Given the description of an element on the screen output the (x, y) to click on. 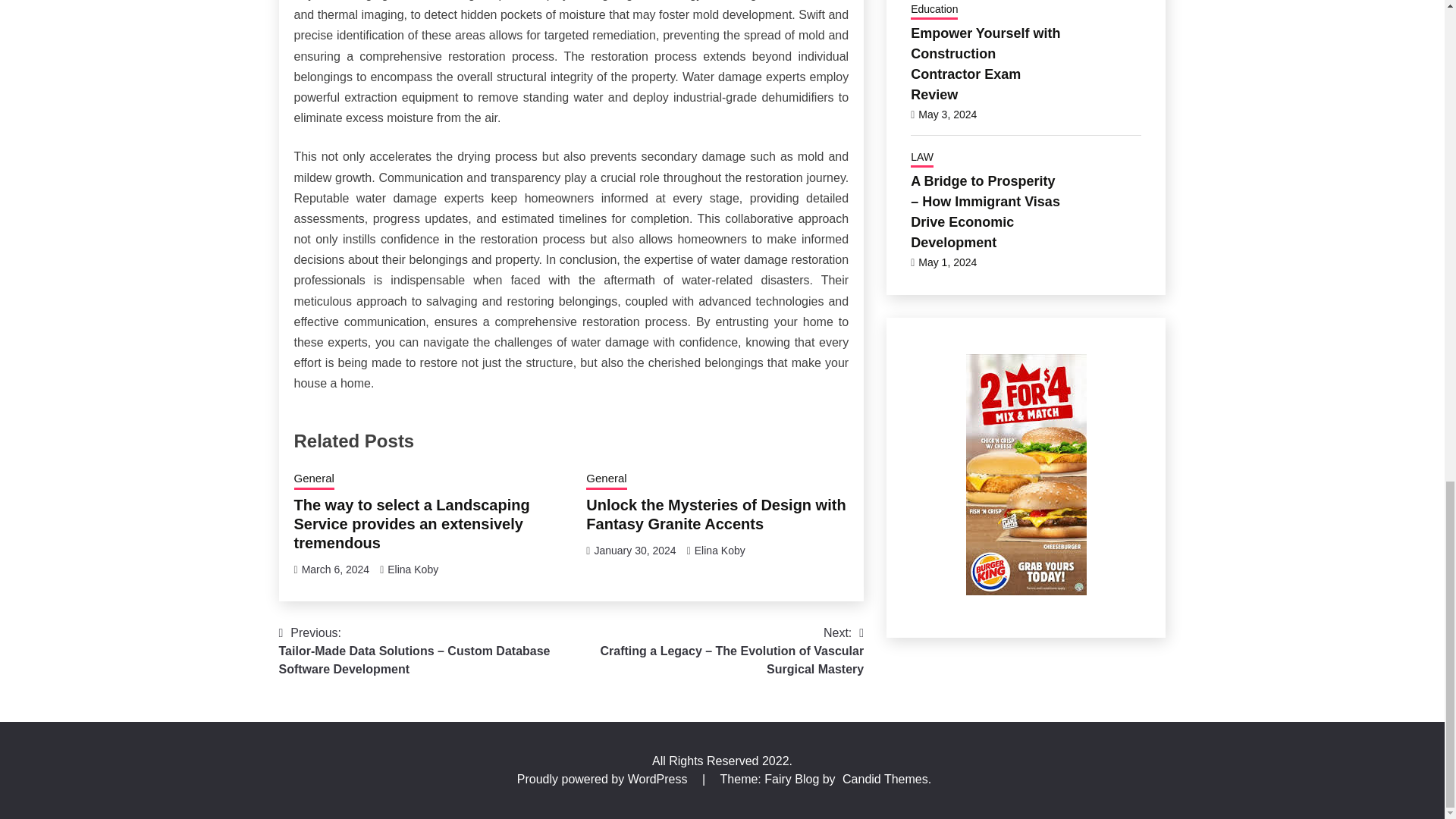
Unlock the Mysteries of Design with Fantasy Granite Accents (715, 514)
March 6, 2024 (335, 569)
General (314, 479)
Elina Koby (719, 550)
Elina Koby (412, 569)
January 30, 2024 (634, 550)
General (606, 479)
